Given the description of an element on the screen output the (x, y) to click on. 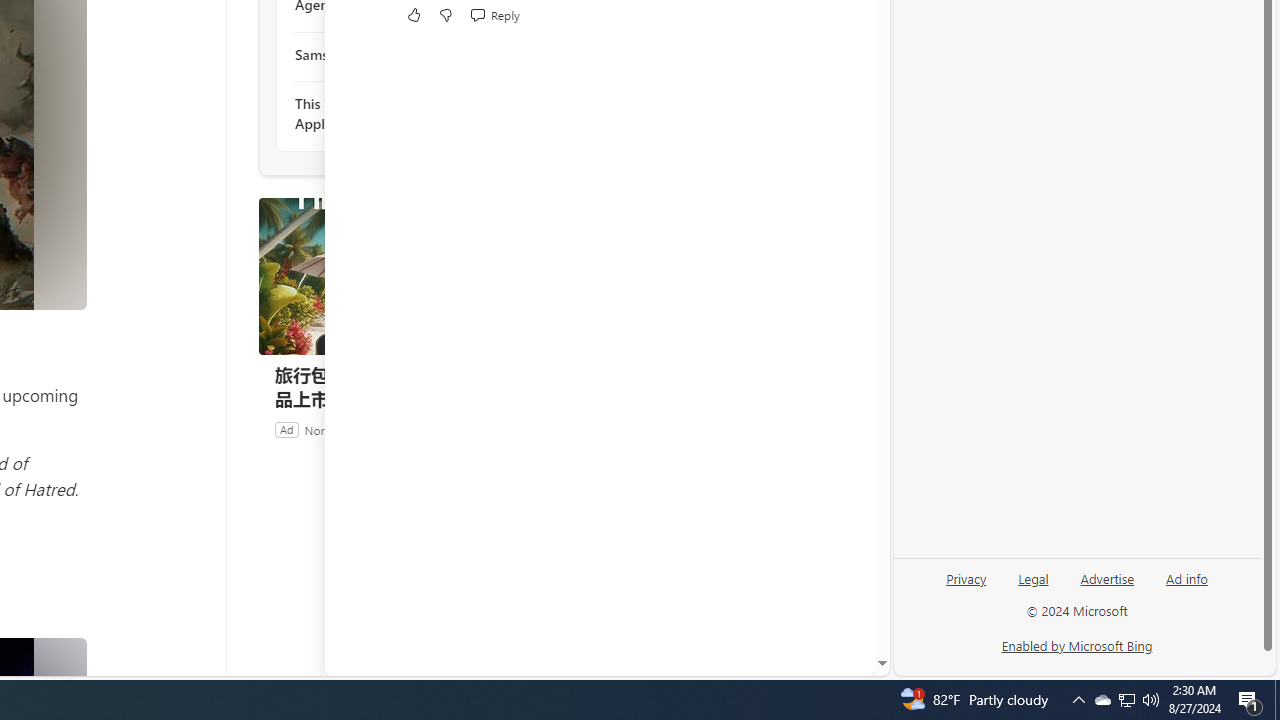
Reply Reply Comment (494, 14)
